Given the description of an element on the screen output the (x, y) to click on. 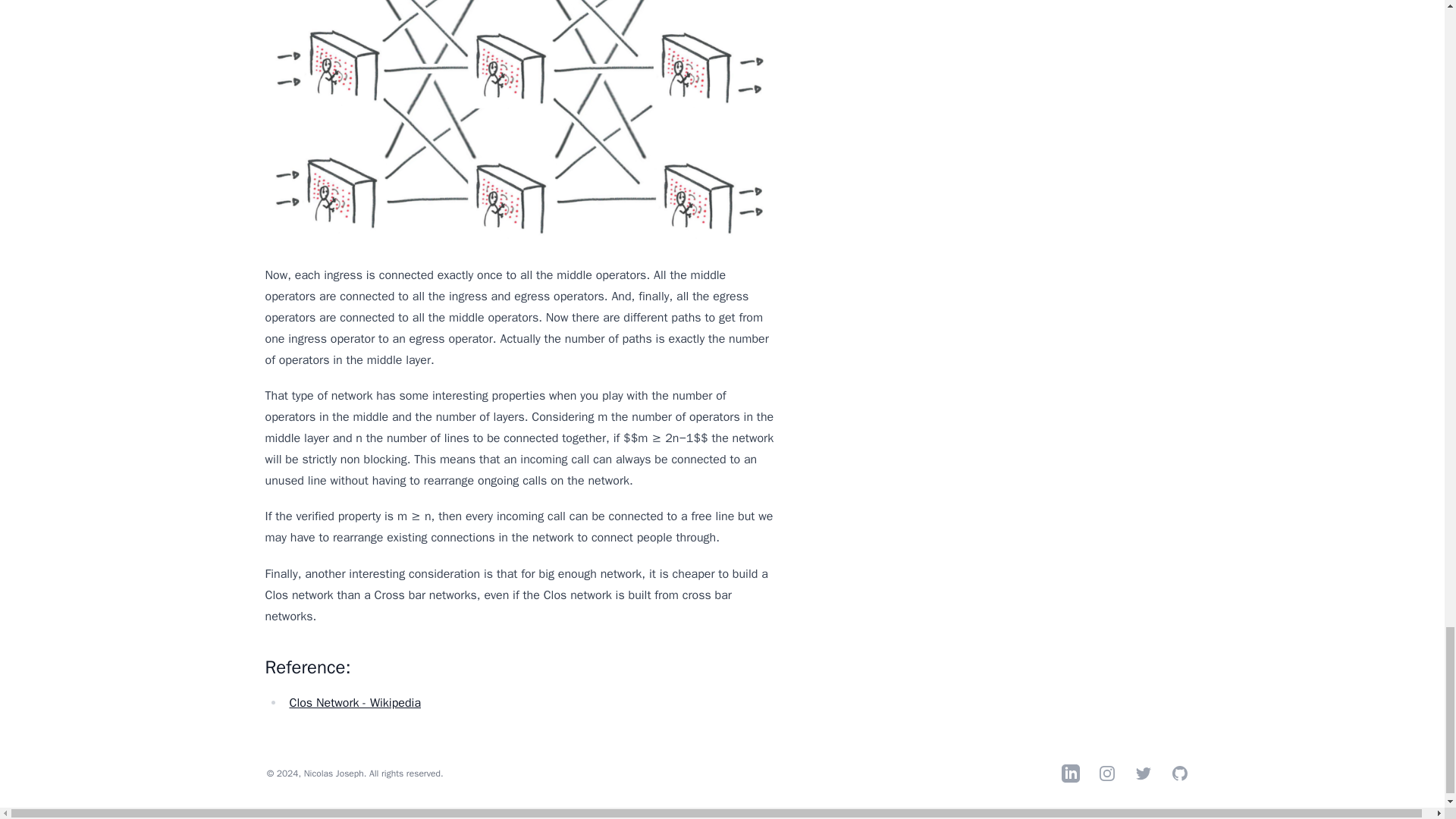
Twitter (1143, 773)
Linkedin (1070, 773)
Instagram (1106, 773)
GitHub (1179, 773)
Clos Network - Wikipedia (354, 702)
